Given the description of an element on the screen output the (x, y) to click on. 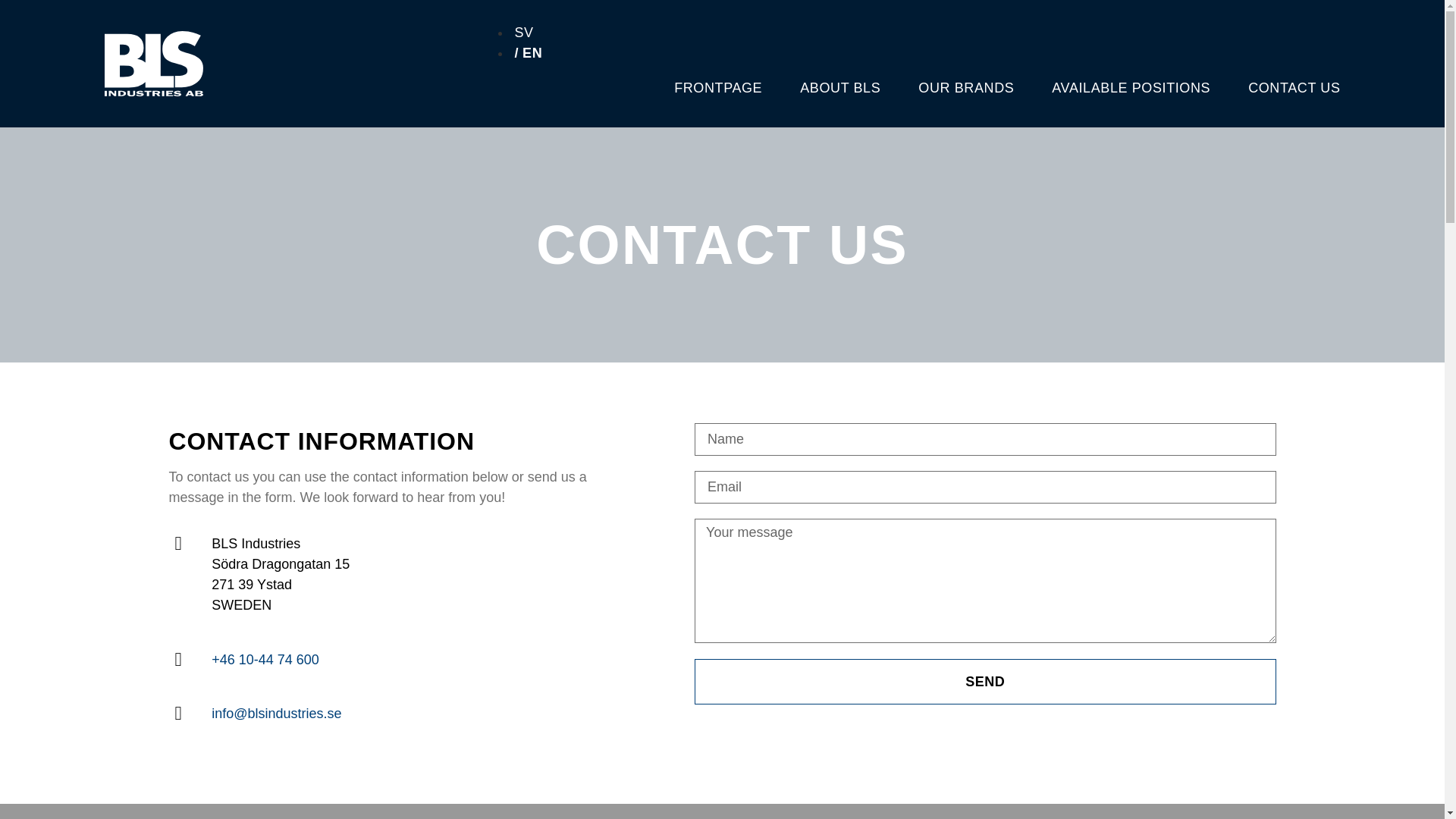
ABOUT BLS (839, 87)
SV (522, 32)
EN (527, 52)
SEND (984, 680)
OUR BRANDS (965, 87)
FRONTPAGE (717, 87)
CONTACT US (1293, 87)
AVAILABLE POSITIONS (1130, 87)
